Given the description of an element on the screen output the (x, y) to click on. 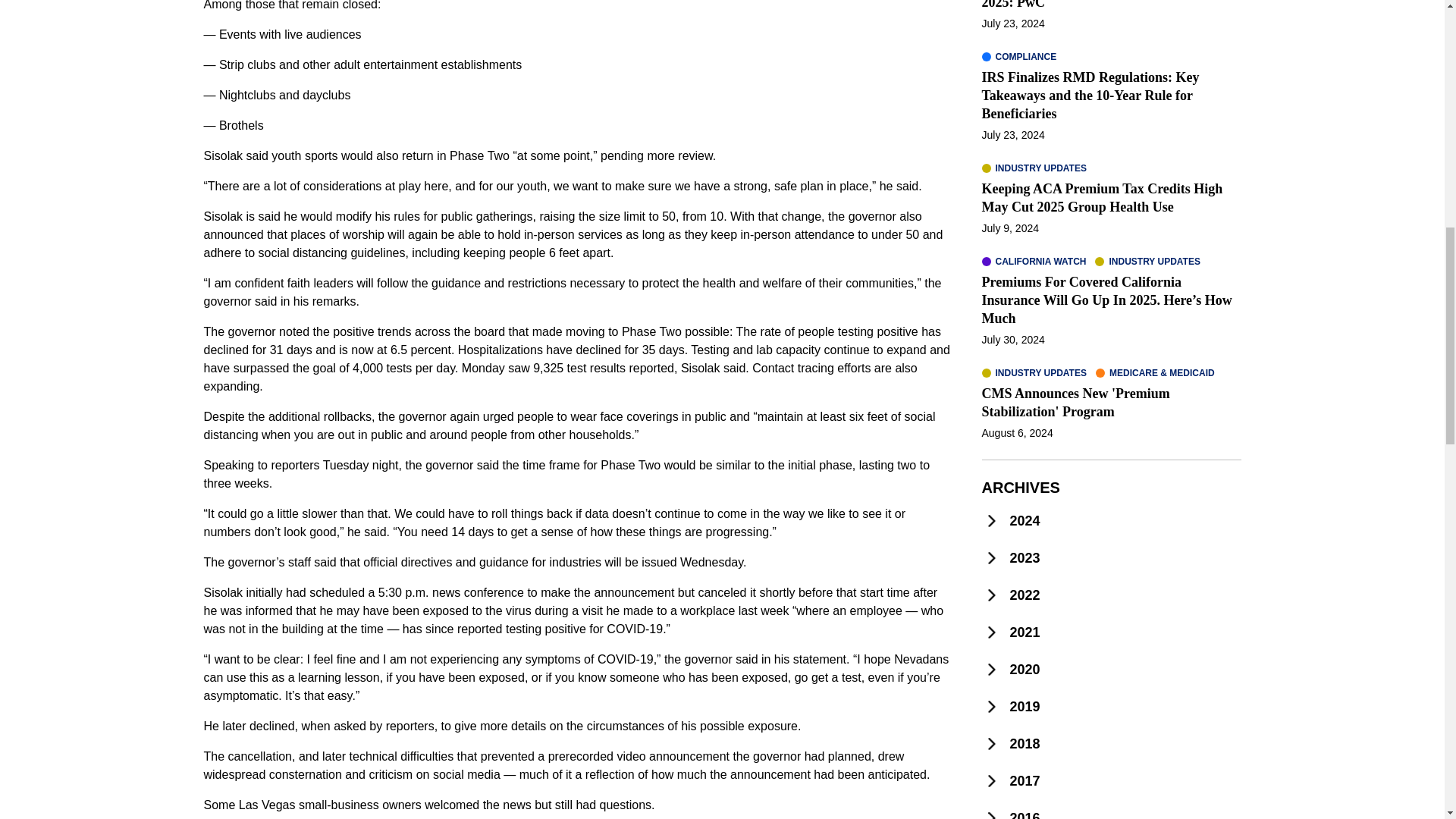
INDUSTRY UPDATES (1033, 168)
COMPLIANCE (1019, 56)
